Given the description of an element on the screen output the (x, y) to click on. 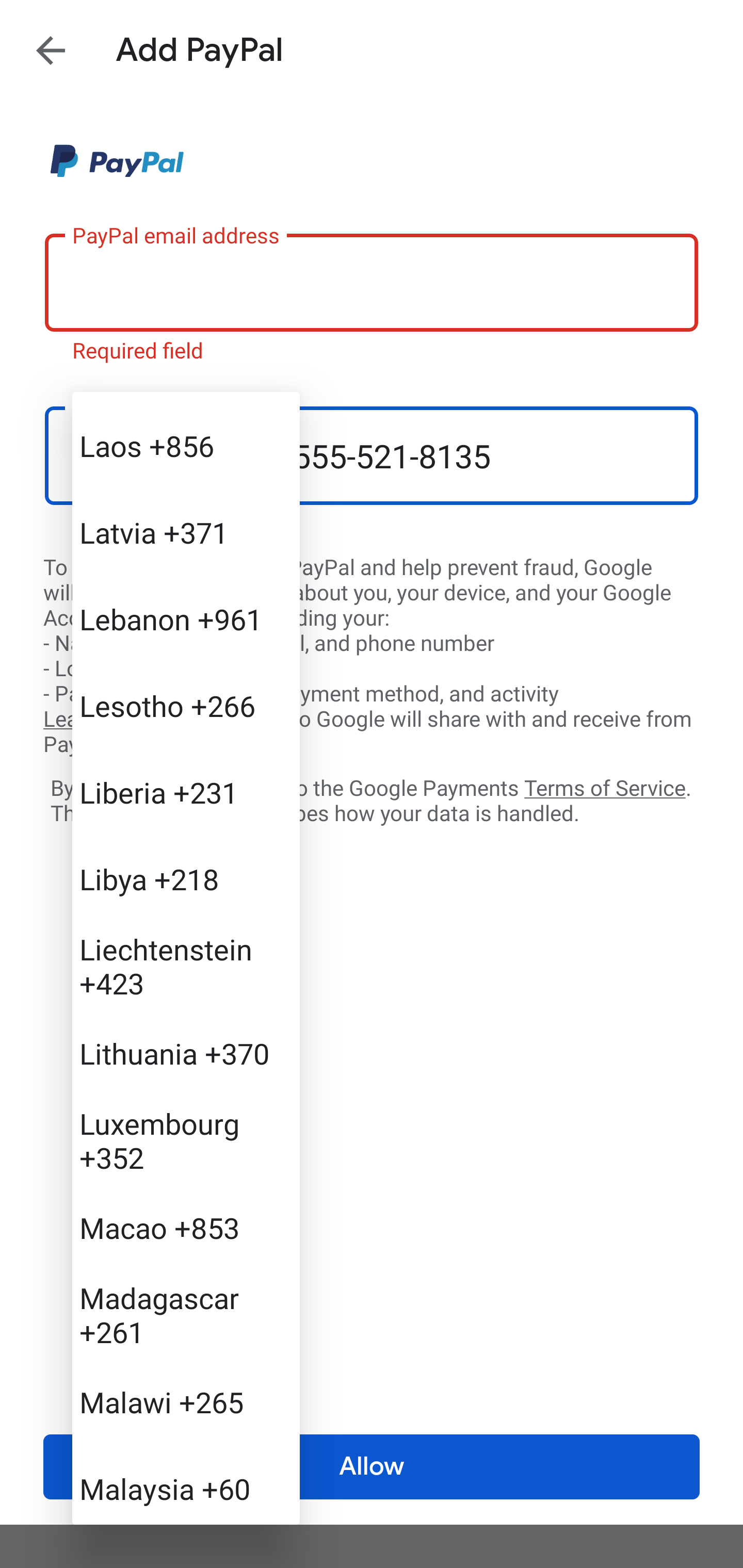
Laos +856 (185, 445)
Latvia +371 (185, 532)
Lebanon +961 (185, 618)
Lesotho +266 (185, 705)
Liberia +231 (185, 792)
Libya +218 (185, 878)
Liechtenstein +423 (185, 965)
Lithuania +370 (185, 1052)
Luxembourg +352 (185, 1139)
Macao +853 (185, 1227)
Madagascar +261 (185, 1314)
Malawi +265 (185, 1401)
Malaysia +60 (185, 1484)
